Given the description of an element on the screen output the (x, y) to click on. 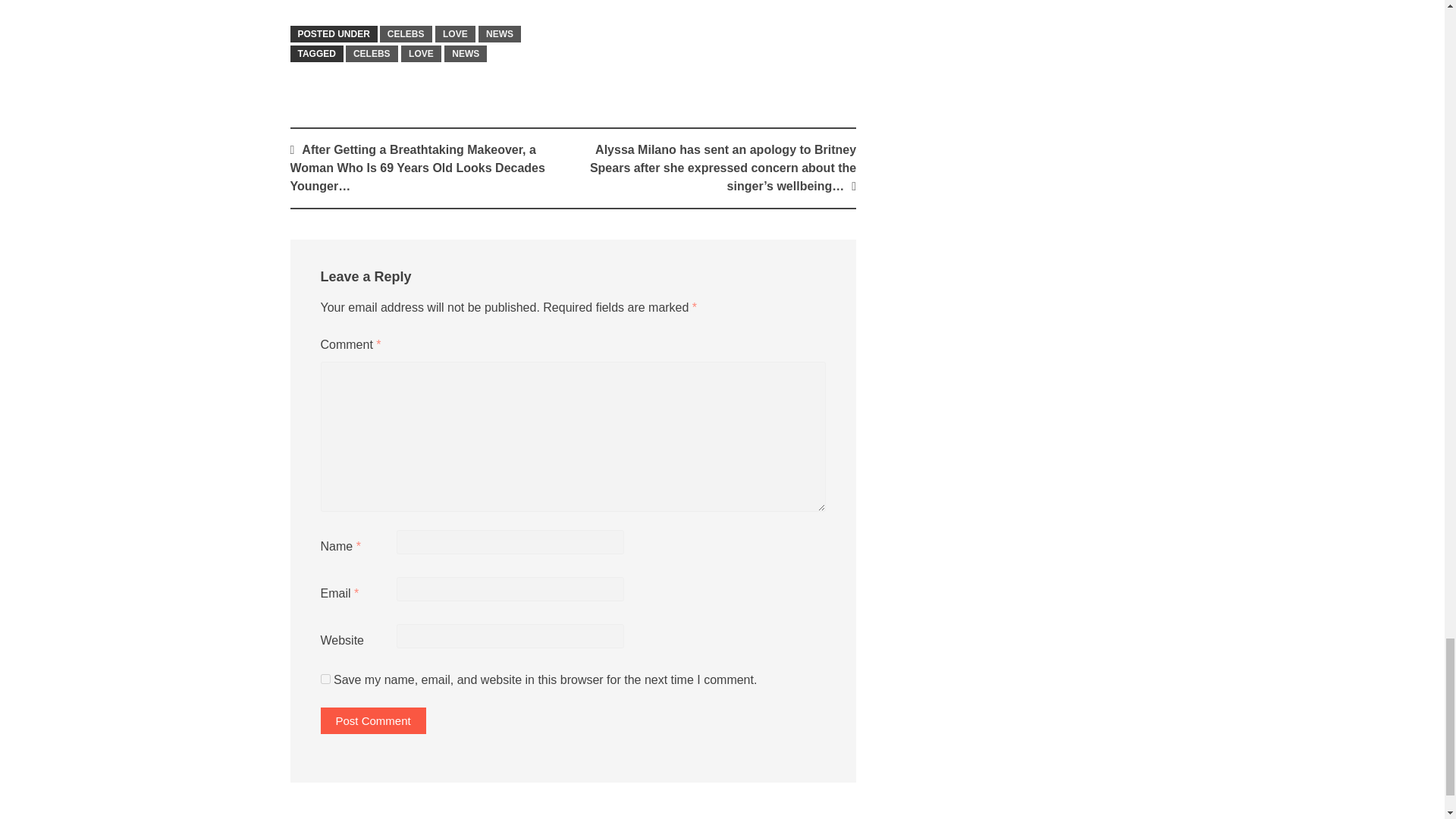
LOVE (421, 53)
yes (325, 678)
CELEBS (406, 33)
Post Comment (372, 720)
NEWS (500, 33)
NEWS (465, 53)
Post Comment (372, 720)
CELEBS (371, 53)
LOVE (455, 33)
